Given the description of an element on the screen output the (x, y) to click on. 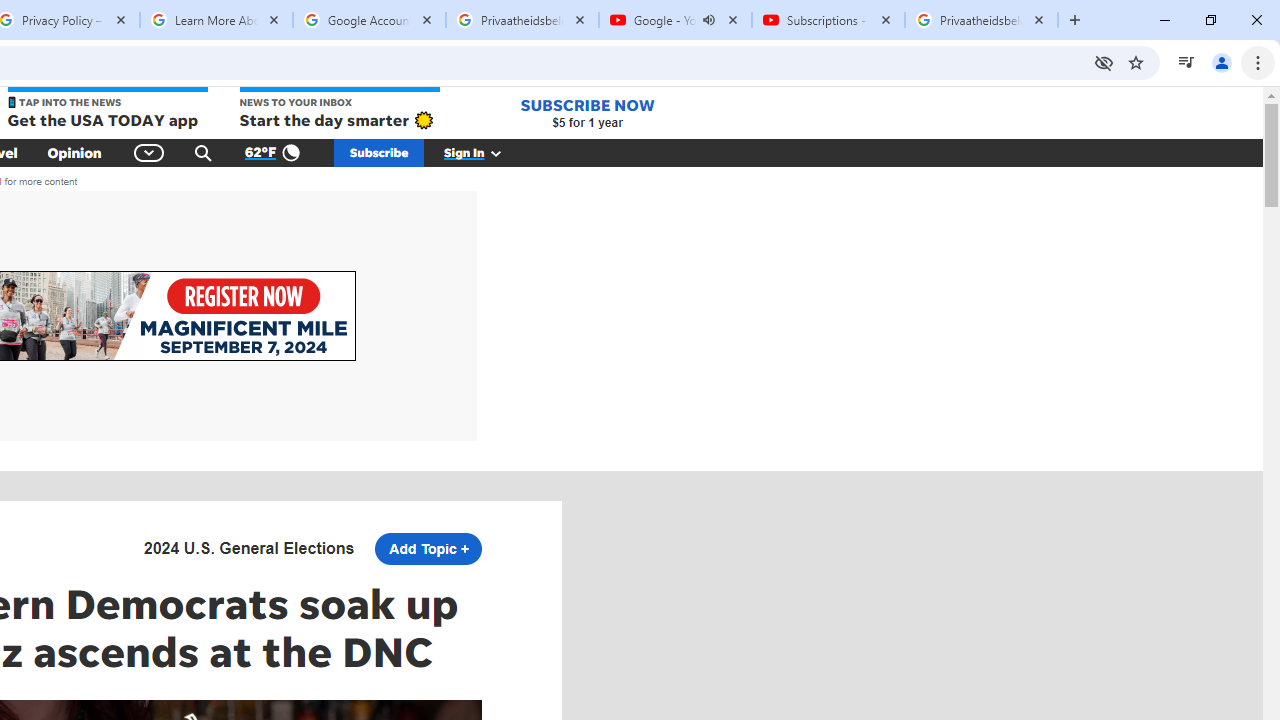
Subscribe (379, 152)
Mute tab (708, 20)
Sign In (483, 152)
Google - YouTube - Audio playing (675, 20)
Third-party cookies blocked (1103, 62)
